Given the description of an element on the screen output the (x, y) to click on. 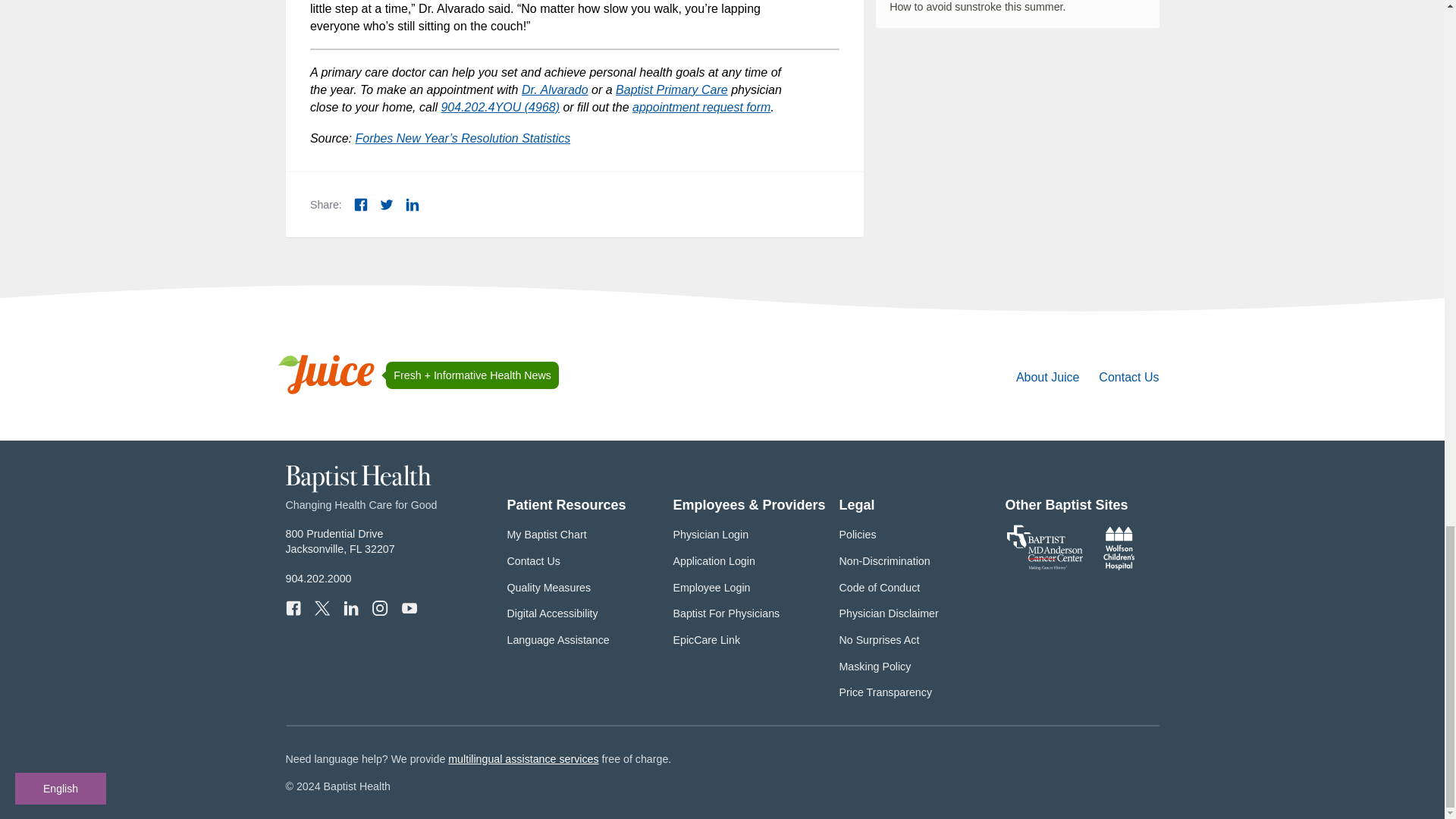
Baptist Health (357, 489)
appointment request form (700, 106)
Dr. Alvarado (554, 89)
About Juice (1048, 377)
Twitter (322, 607)
Facebook (292, 607)
Baptist Primary Care (671, 89)
Instagram (379, 607)
YouTube (408, 607)
Twitter (386, 204)
Get directions to Baptist Health (339, 541)
LinkedIn (350, 607)
Facebook (360, 204)
LinkedIn (412, 204)
